Given the description of an element on the screen output the (x, y) to click on. 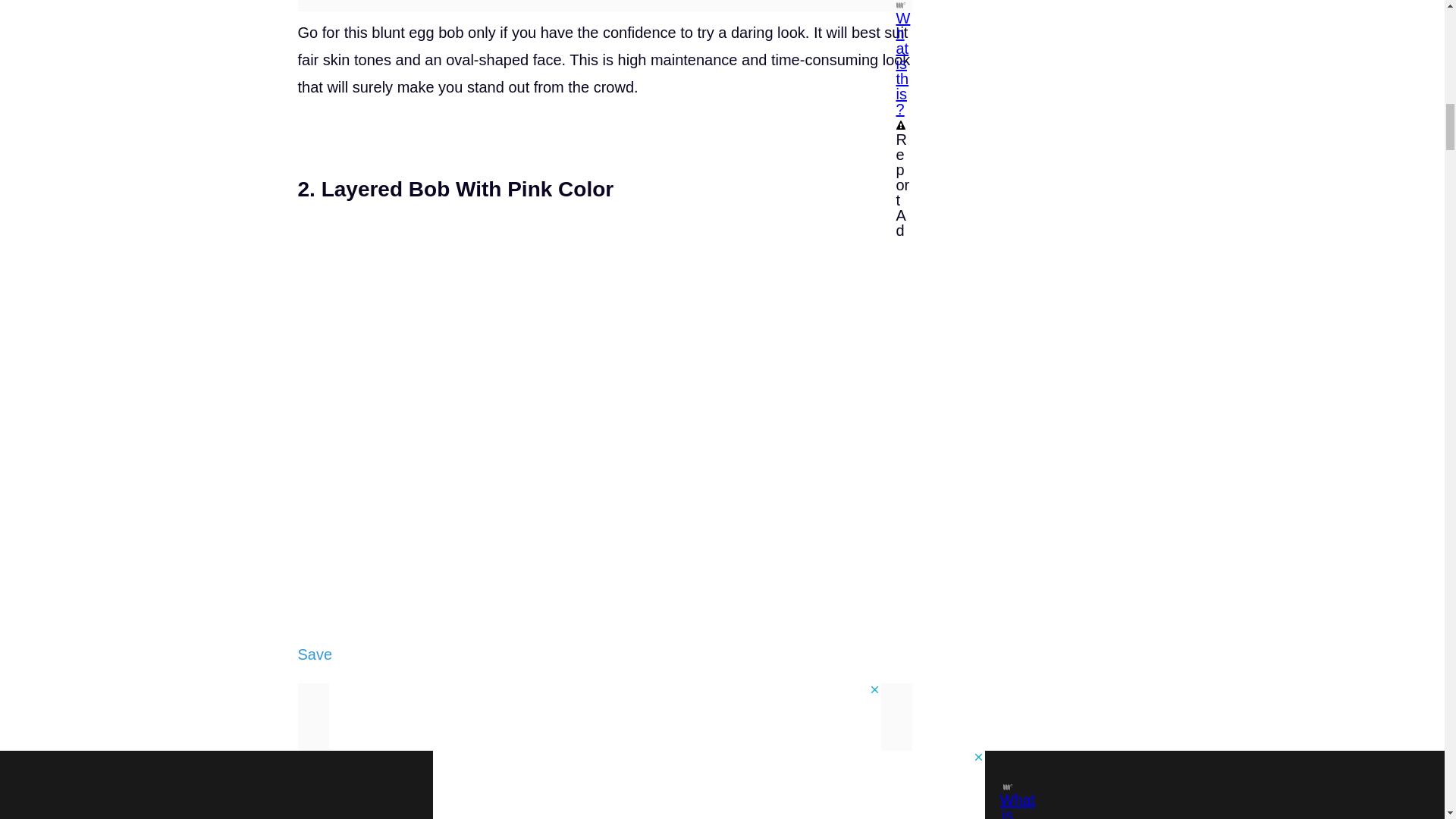
Save (314, 654)
3rd party ad content (604, 717)
